Given the description of an element on the screen output the (x, y) to click on. 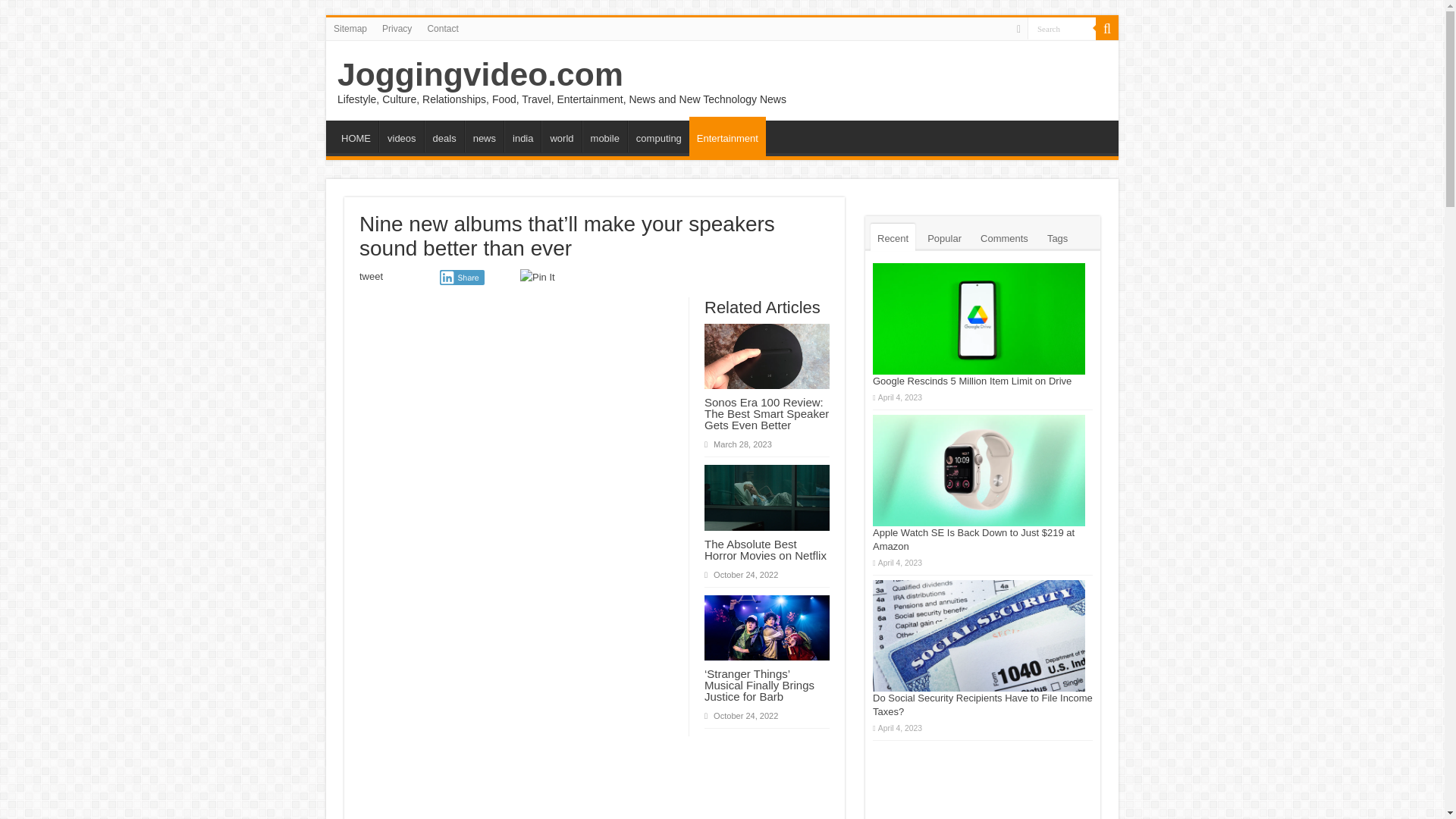
Rss (1018, 29)
HOME (355, 136)
Pin It (536, 277)
Search (1061, 28)
news (483, 136)
tweet (370, 276)
Search (1107, 28)
deals (444, 136)
Contact (442, 28)
world (560, 136)
Sitemap (350, 28)
Privacy (396, 28)
computing (657, 136)
The Absolute Best Horror Movies on Netflix (765, 549)
